Given the description of an element on the screen output the (x, y) to click on. 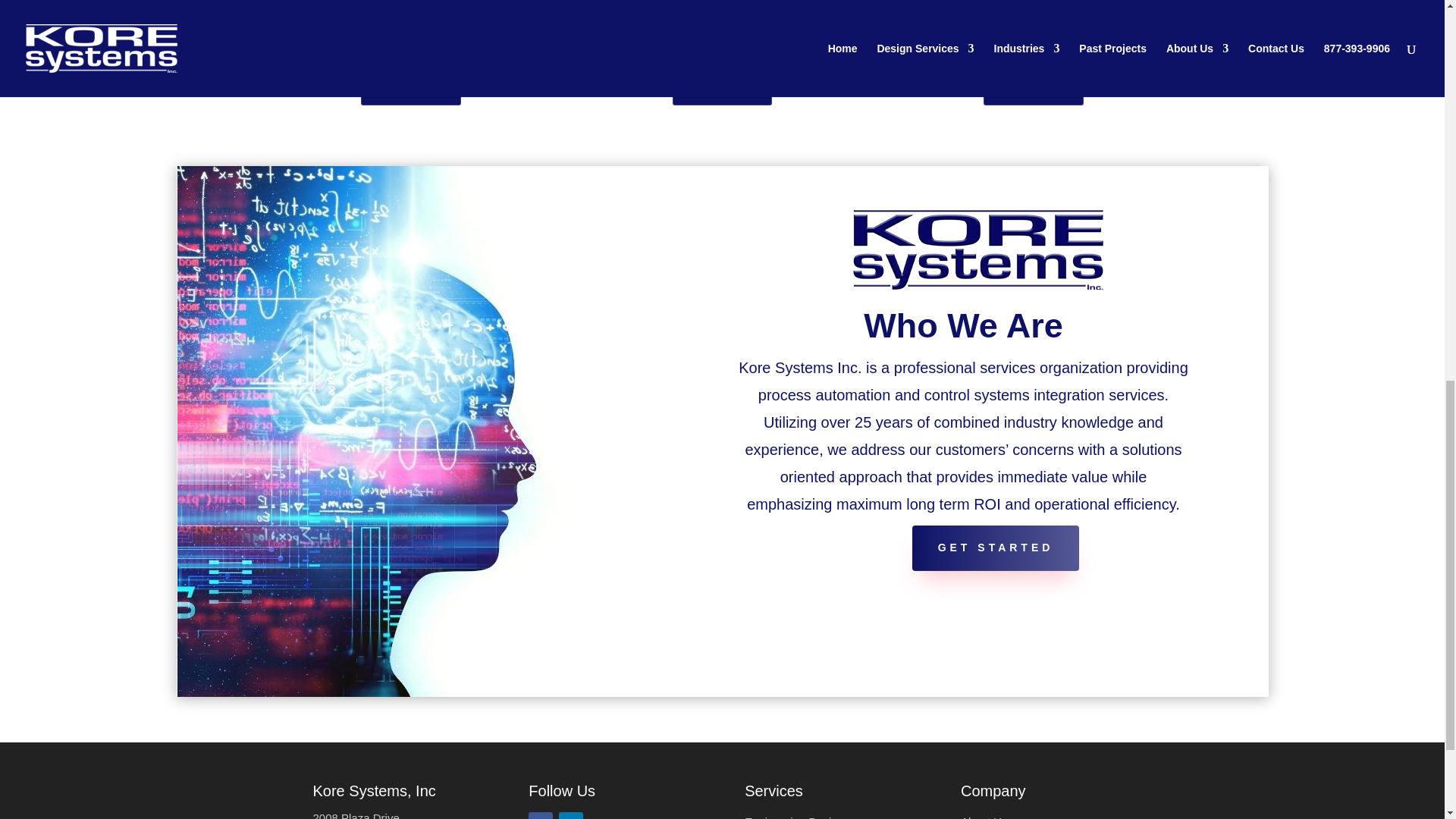
Follow on LinkedIn (571, 815)
Follow on Facebook (540, 815)
Kore-Web-Logo (978, 249)
Learn About Kore (983, 816)
Kore Systems Location (360, 815)
Engineering Design (794, 816)
